Given the description of an element on the screen output the (x, y) to click on. 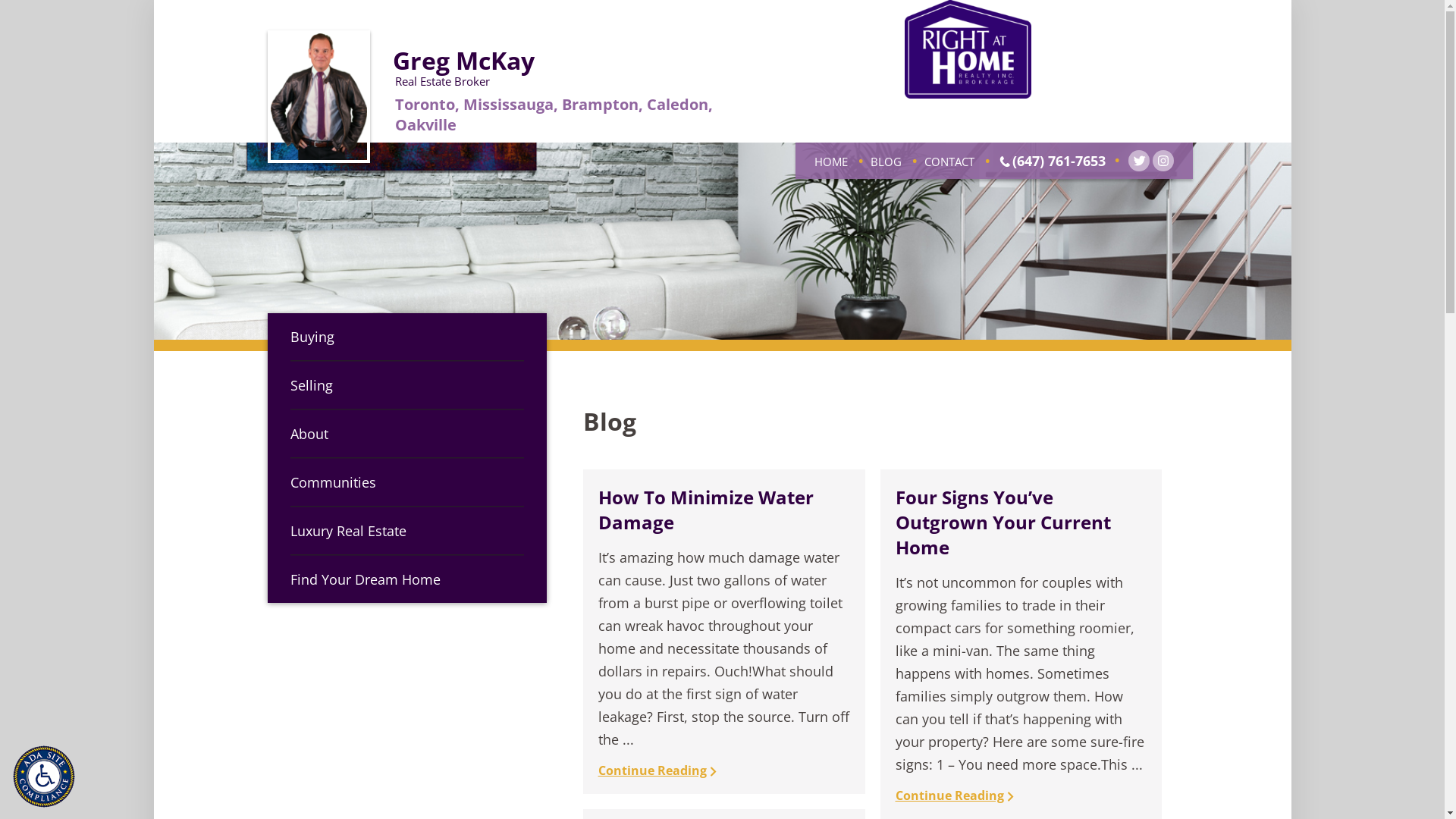
Continue Reading Element type: text (954, 795)
Find Your Dream Home Element type: text (406, 578)
HOME Element type: text (830, 161)
Communities Element type: text (406, 481)
Greg McKay Element type: text (463, 59)
How To Minimize Water Damage Element type: text (705, 509)
Buying Element type: text (406, 336)
BLOG Element type: text (885, 161)
Selling Element type: text (406, 384)
Accessibility Menu Element type: hover (47, 780)
CONTACT Element type: text (948, 161)
Accessibility Menu Element type: hover (43, 776)
Luxury Real Estate Element type: text (406, 530)
About Element type: text (406, 433)
(647) 761-7653 Element type: text (1057, 160)
Continue Reading Element type: text (658, 770)
